Given the description of an element on the screen output the (x, y) to click on. 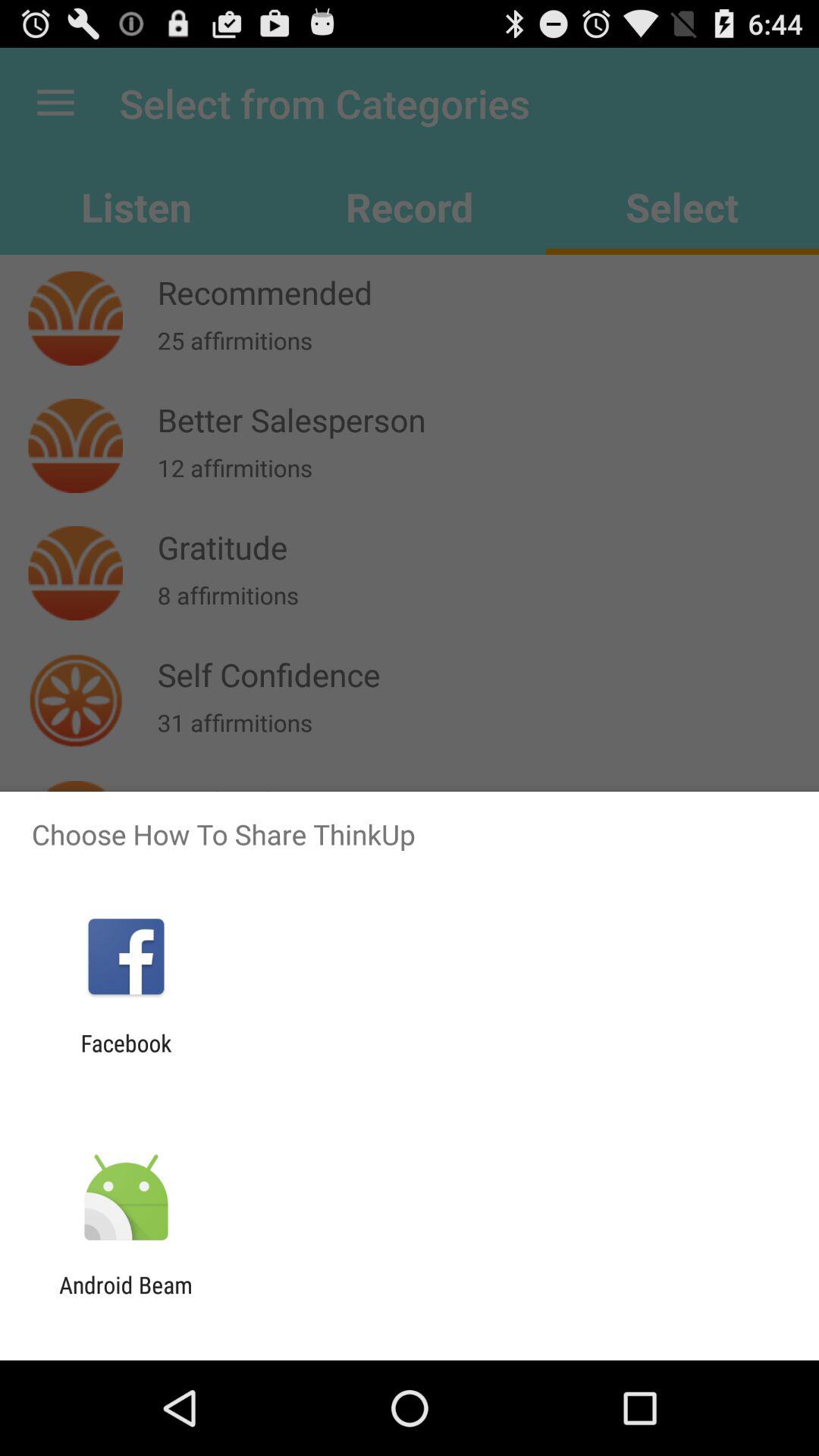
swipe until the android beam (125, 1298)
